Given the description of an element on the screen output the (x, y) to click on. 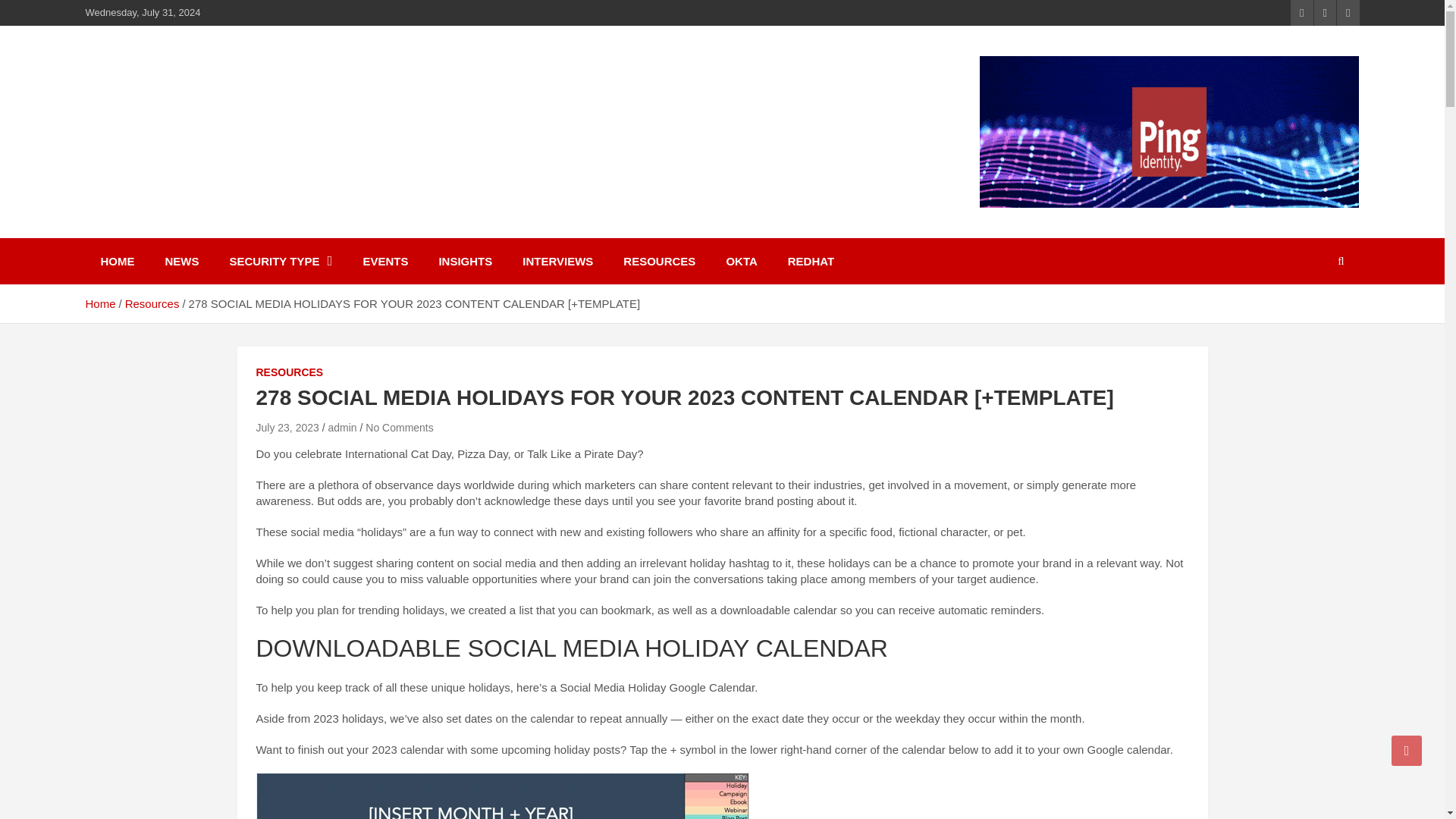
SECURITY TYPE (280, 261)
NEWS (181, 261)
HOME (116, 261)
Go to Top (1406, 750)
V3 Media (149, 123)
